Given the description of an element on the screen output the (x, y) to click on. 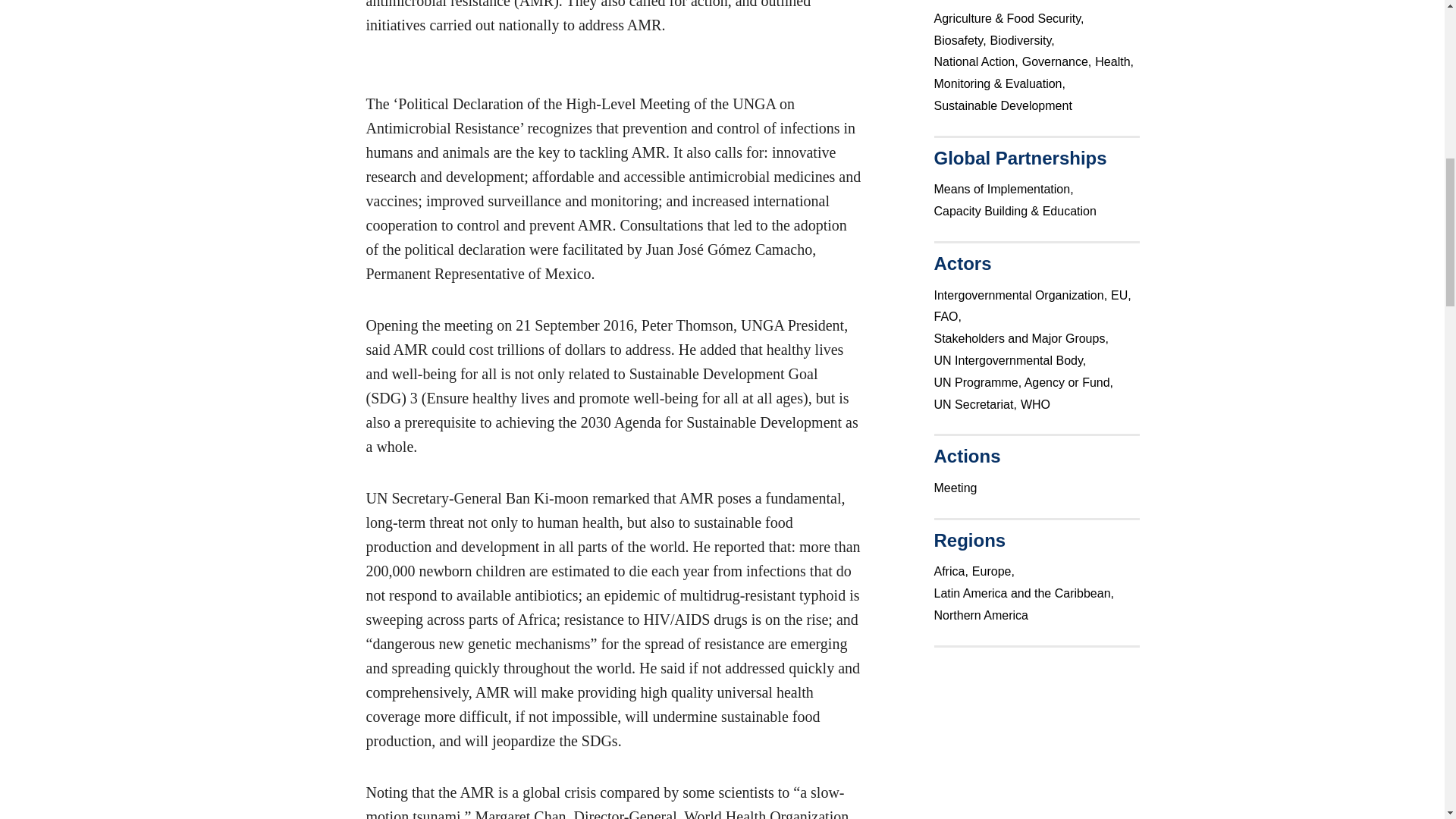
Biodiversity, (1024, 39)
Health, (1115, 61)
Governance, (1059, 61)
Biosafety, (962, 39)
National Action, (978, 61)
